Given the description of an element on the screen output the (x, y) to click on. 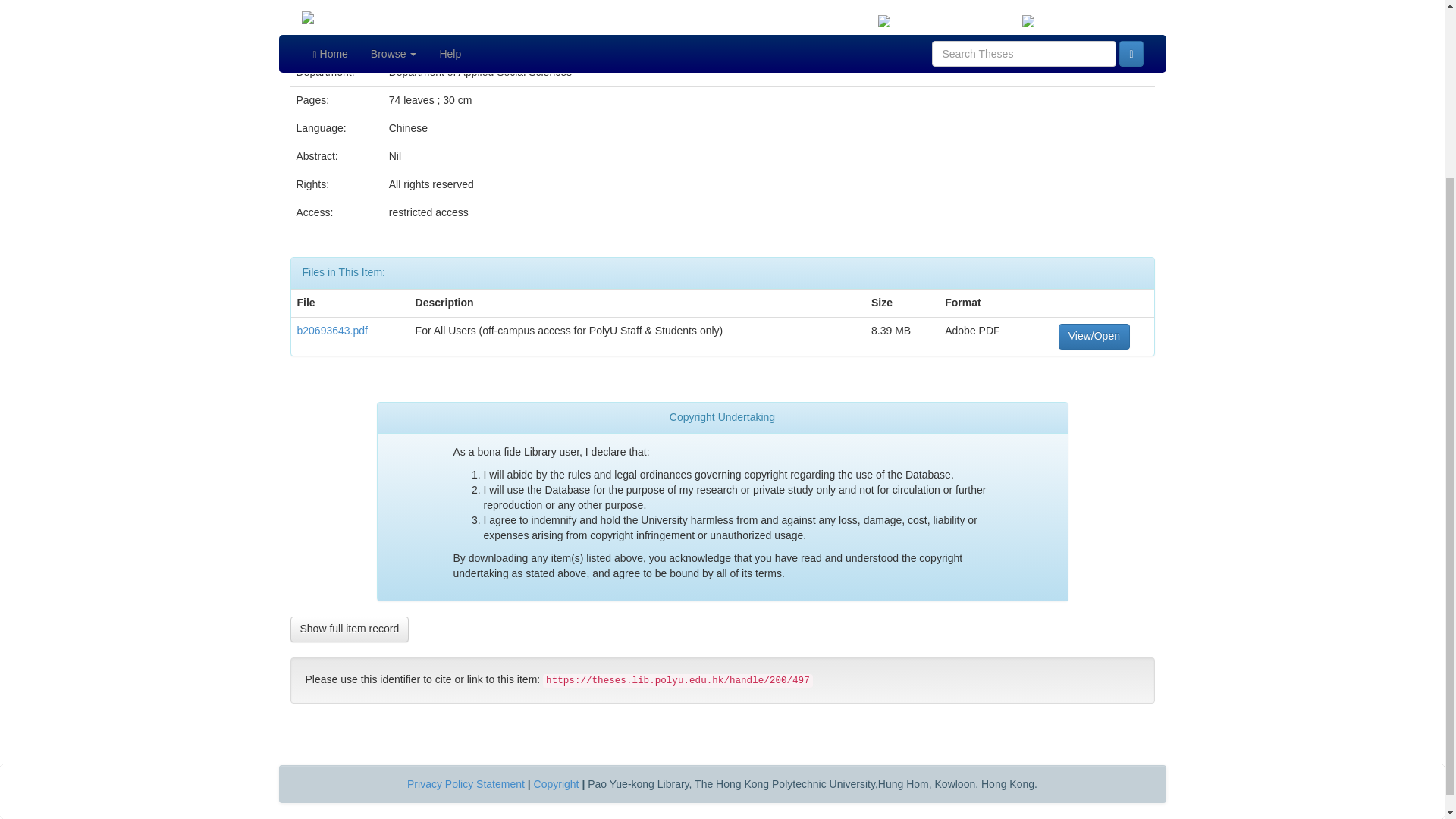
Show full item record (349, 629)
Privacy Policy Statement (465, 783)
b20693643.pdf (332, 330)
Copyright (556, 783)
